Given the description of an element on the screen output the (x, y) to click on. 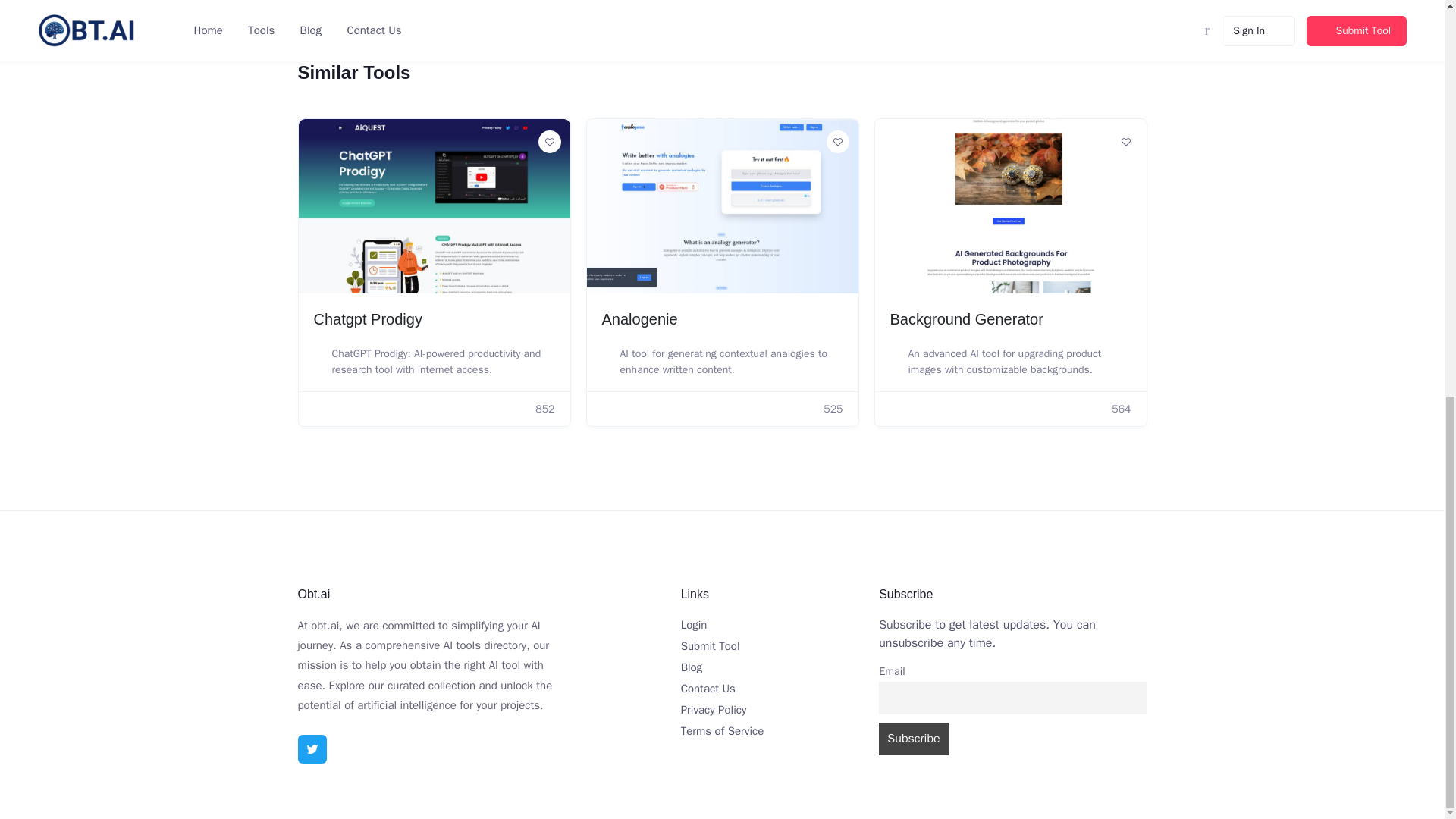
Subscribe (914, 738)
